Given the description of an element on the screen output the (x, y) to click on. 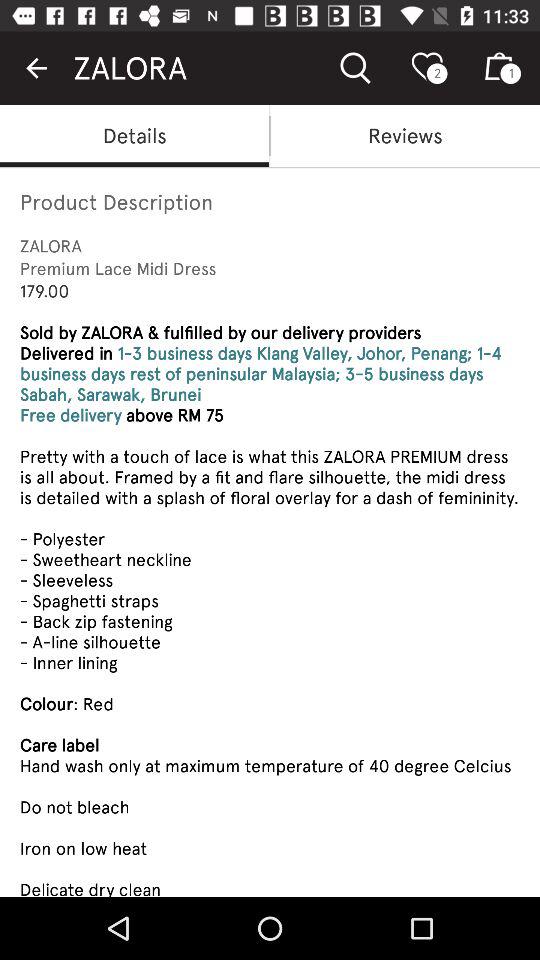
swipe to reviews item (405, 135)
